Given the description of an element on the screen output the (x, y) to click on. 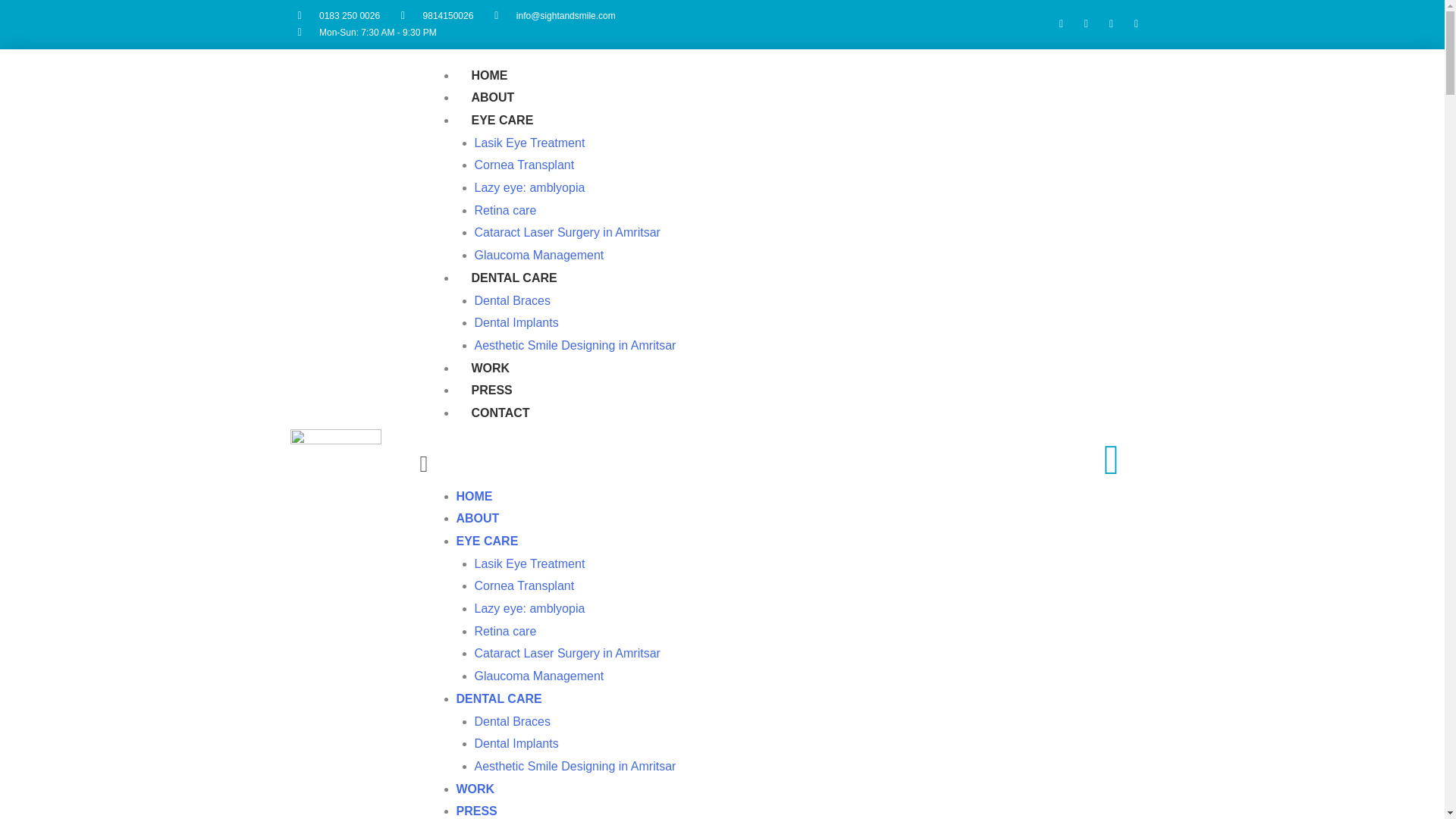
ABOUT (493, 97)
EYE CARE (487, 540)
Lasik Eye Treatment (529, 142)
Dental Braces (512, 300)
Dental Implants (516, 743)
Cataract Laser Surgery in Amritsar (567, 653)
Dental Braces (512, 721)
WORK (491, 367)
HOME (475, 495)
Glaucoma Management (539, 254)
Cornea Transplant (524, 585)
Aesthetic Smile Designing in Amritsar (575, 766)
DENTAL CARE (499, 698)
Lasik Eye Treatment (529, 563)
Dental Implants (516, 322)
